Given the description of an element on the screen output the (x, y) to click on. 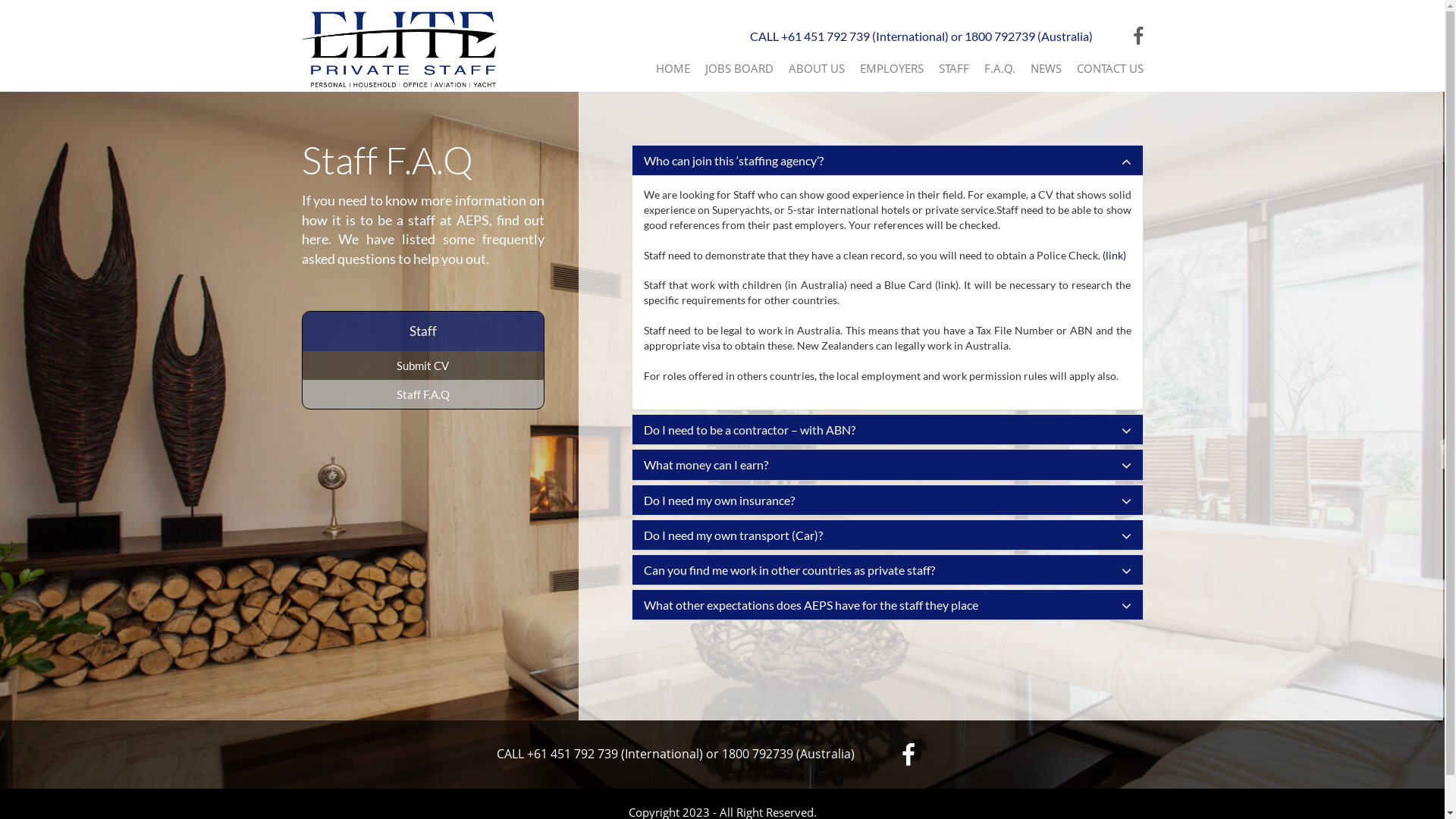
Staff Element type: text (421, 331)
JOBS BOARD Element type: text (739, 68)
1800 792739 Element type: text (999, 35)
+61 451 792 739 Element type: text (572, 753)
Staff F.A.Q Element type: text (421, 393)
EMPLOYERS Element type: text (891, 68)
ABOUT US Element type: text (816, 68)
facebook Element type: hover (908, 754)
Australian Elite Private Staff Element type: hover (398, 49)
F.A.Q. Element type: text (999, 68)
Do I need my own insurance? Element type: text (887, 499)
STAFF Element type: text (953, 68)
(link) Element type: text (1114, 254)
NEWS Element type: text (1044, 68)
Submit CV Element type: text (421, 365)
facebook Element type: hover (1137, 36)
1800 792739 Element type: text (757, 753)
What money can I earn? Element type: text (887, 464)
HOME Element type: text (672, 68)
+61 451 792 739 Element type: text (825, 35)
Can you find me work in other countries as private staff? Element type: text (887, 569)
CONTACT US Element type: text (1109, 68)
Do I need my own transport (Car)? Element type: text (887, 534)
